Given the description of an element on the screen output the (x, y) to click on. 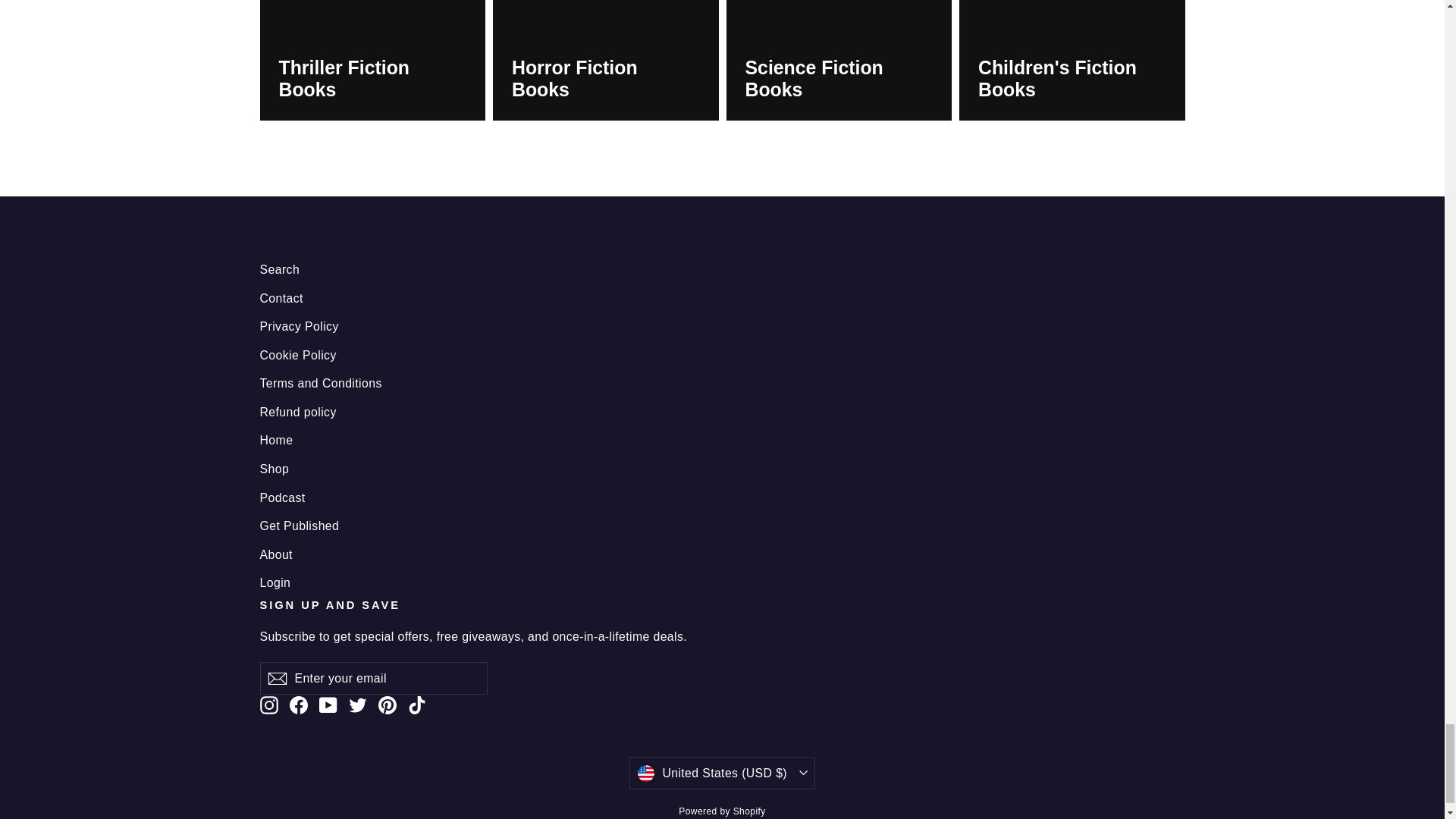
Hangar1publishing on Twitter (357, 704)
Hangar1publishing on Facebook (298, 704)
Hangar1publishing on YouTube (327, 704)
instagram (268, 705)
Hangar1publishing on TikTok (416, 704)
twitter (357, 705)
icon-email (276, 678)
